Given the description of an element on the screen output the (x, y) to click on. 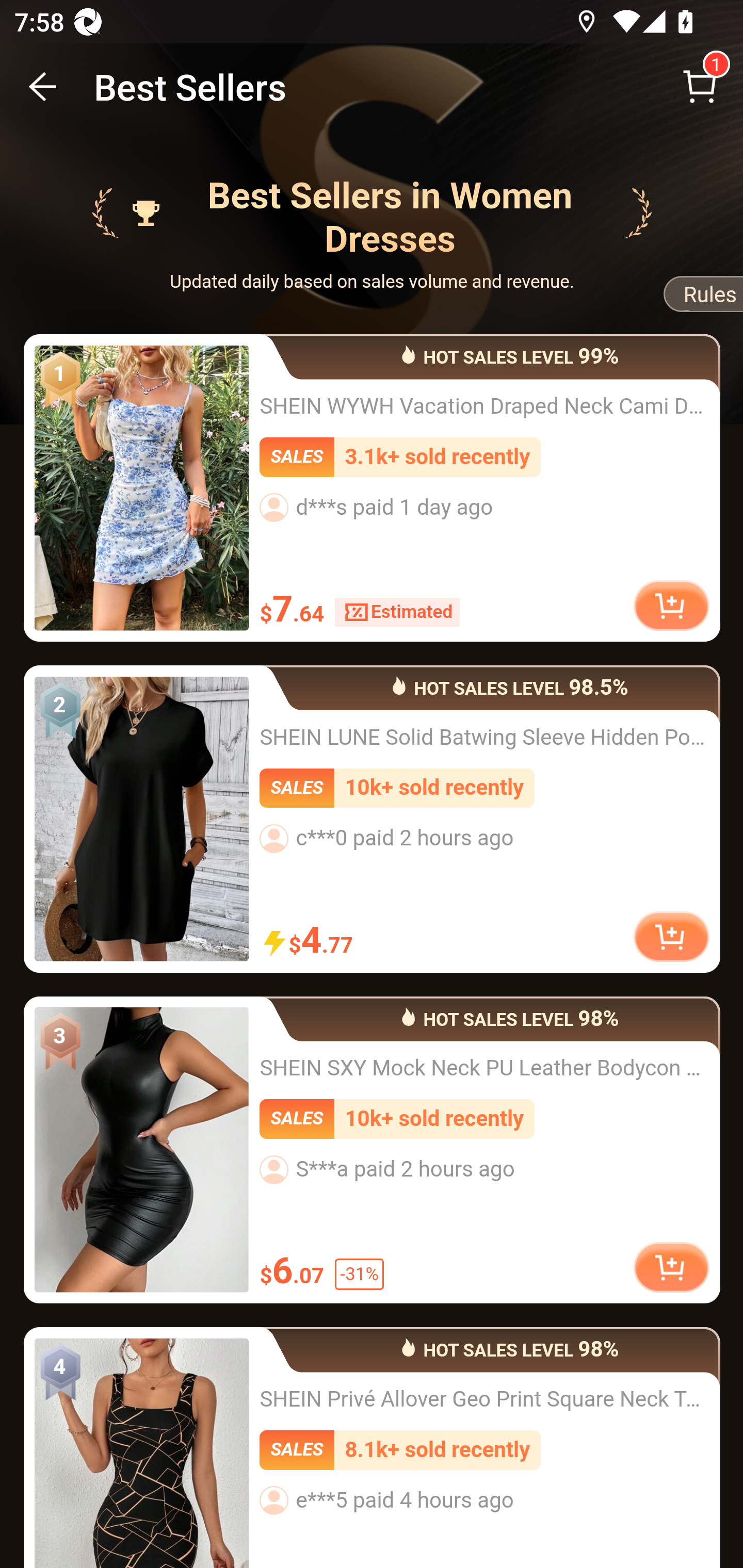
BACK (43, 86)
Cart 1 (699, 86)
Rules (702, 297)
SHEIN WYWH Vacation Draped Neck Cami Dress (141, 487)
add to cart (670, 604)
add to cart (670, 935)
SHEIN SXY Mock Neck PU Leather Bodycon Dress (141, 1149)
add to cart (670, 1267)
